Given the description of an element on the screen output the (x, y) to click on. 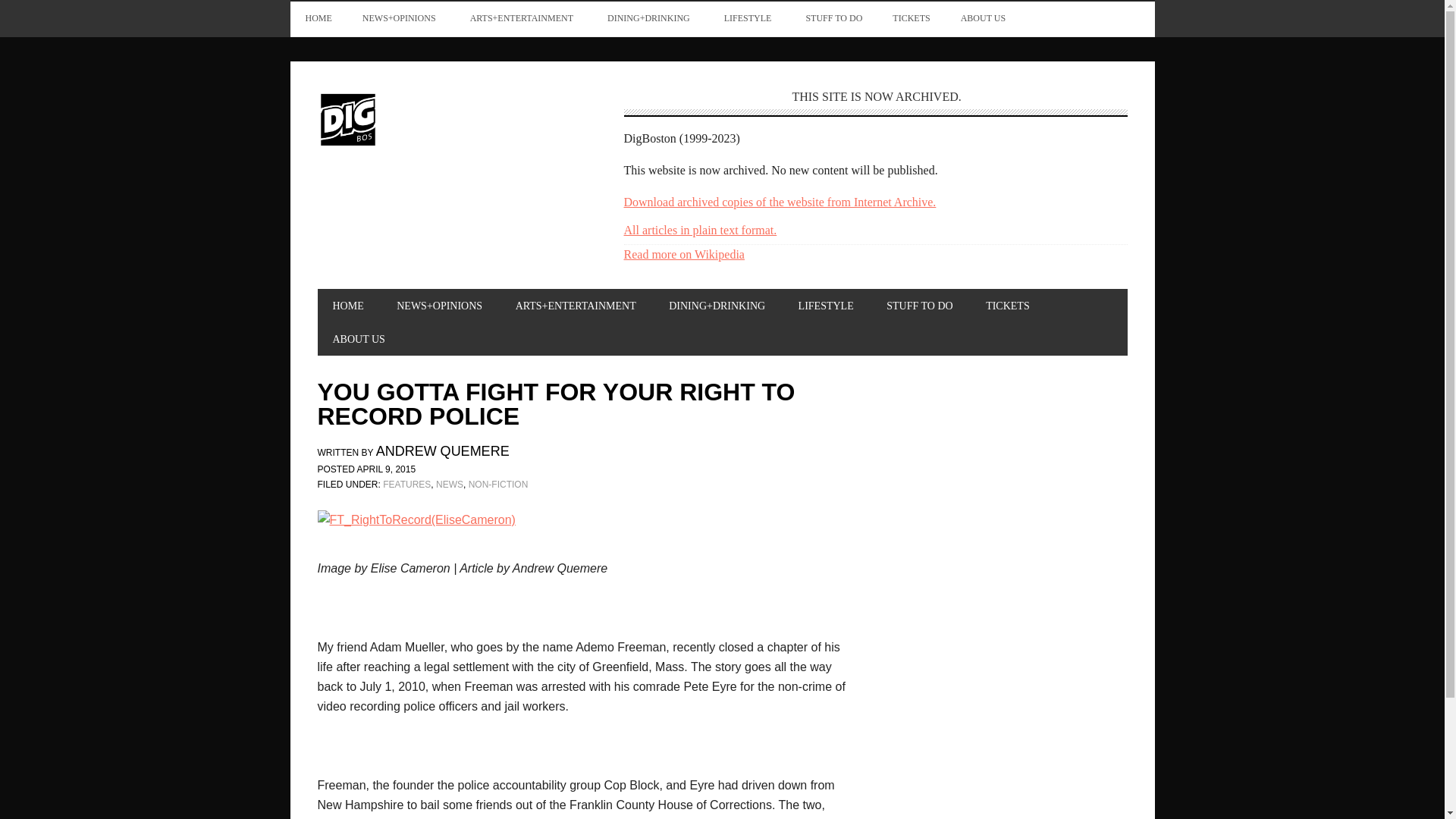
STUFF TO DO (833, 18)
Read more on Wikipedia (683, 254)
LIFESTYLE (749, 18)
TICKETS (910, 18)
HOME (317, 18)
All articles in plain text format. (699, 229)
HOME (347, 305)
